Given the description of an element on the screen output the (x, y) to click on. 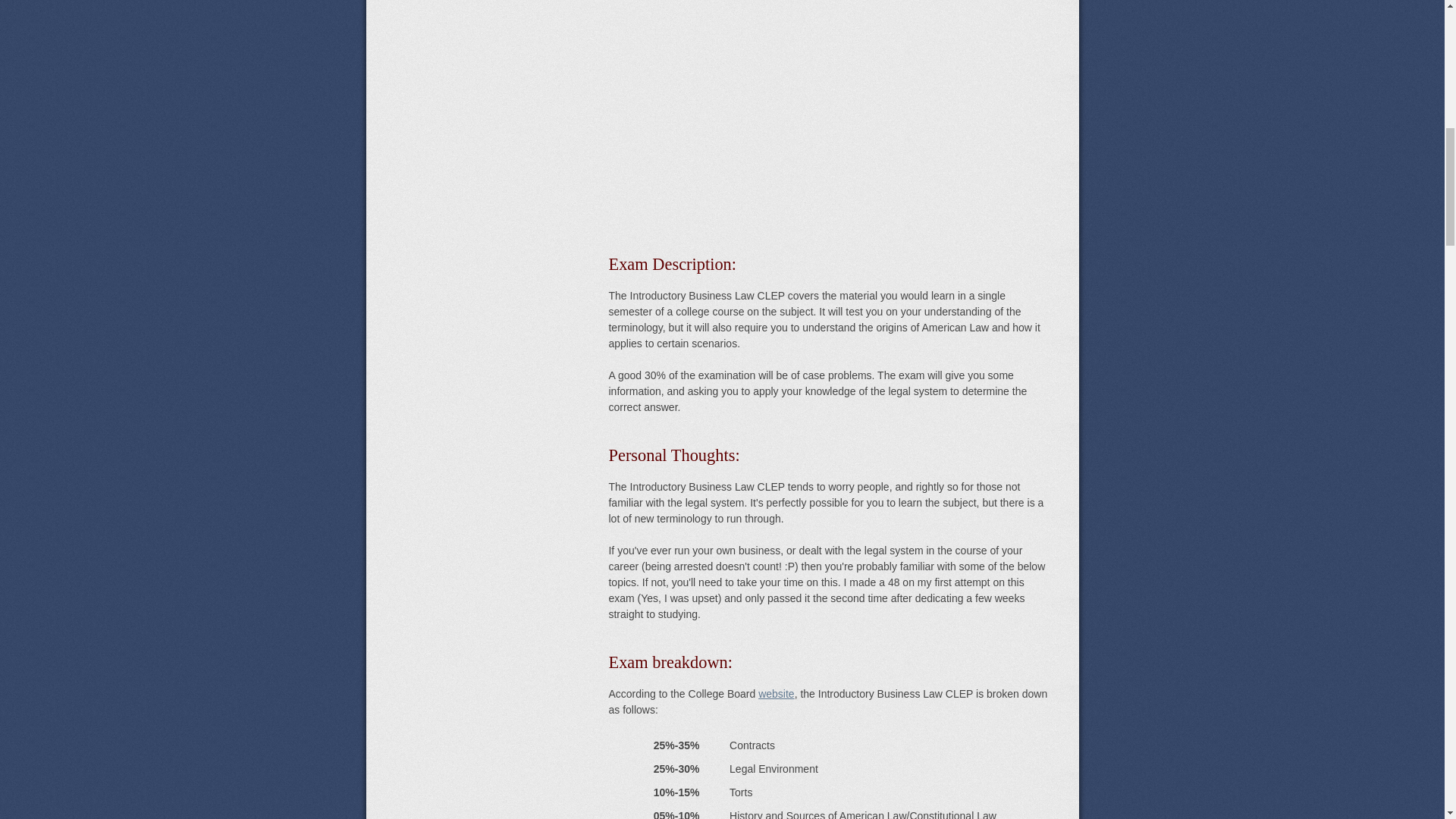
Advertisement (827, 102)
